Given the description of an element on the screen output the (x, y) to click on. 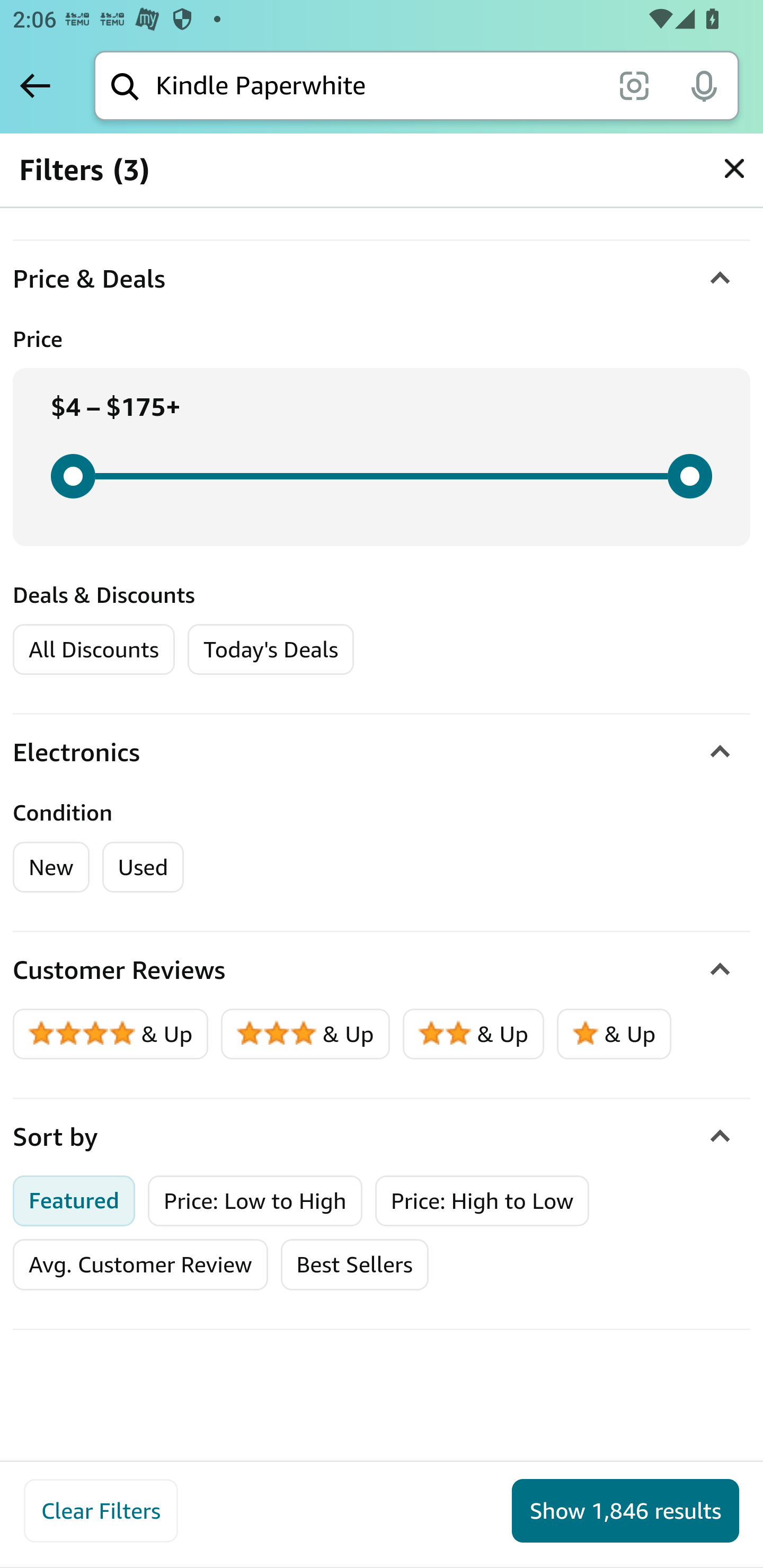
Back (35, 85)
scan it (633, 85)
Top Brands (85, 175)
Price & Deals (381, 278)
All Discounts (93, 648)
Today's Deals (270, 648)
Electronics (381, 752)
New (51, 866)
Used (142, 866)
Customer Reviews (381, 970)
4 Stars & Up (110, 1033)
3 Stars & Up (305, 1033)
2 Stars & Up (473, 1033)
1 Star & Up (614, 1033)
Sort by (381, 1136)
Price: Low to High (255, 1200)
Price: High to Low (481, 1200)
Avg. Customer Review (140, 1264)
Best Sellers (354, 1264)
Clear Filters (100, 1510)
Show 1,846 results (625, 1510)
